Given the description of an element on the screen output the (x, y) to click on. 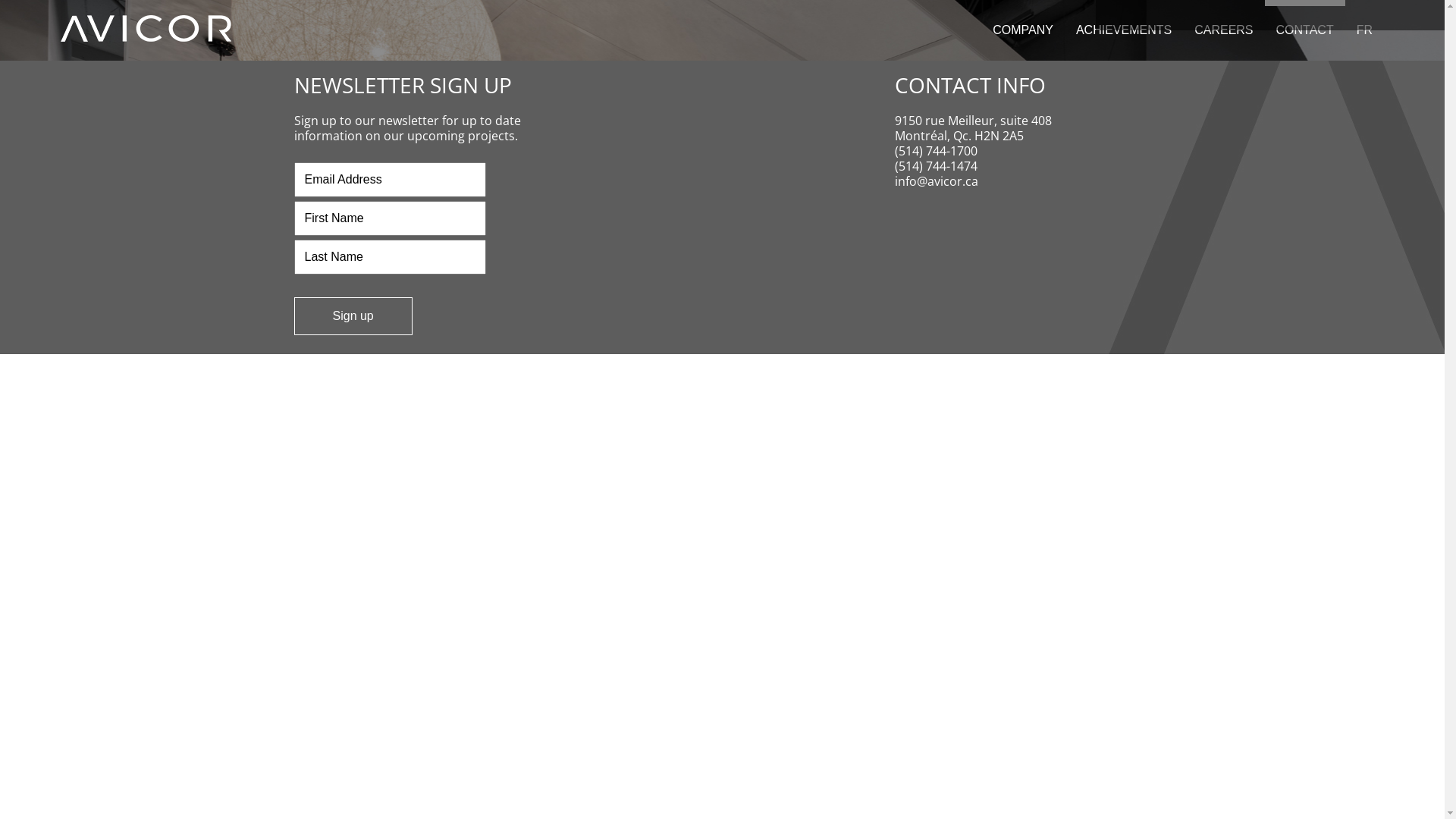
CONTACT Element type: text (1304, 30)
COMPANY Element type: text (1022, 30)
ACHIEVEMENTS Element type: text (1123, 30)
CAREERS Element type: text (1223, 30)
info@avicor.ca Element type: text (936, 180)
FR Element type: text (1364, 30)
Sign up Element type: text (353, 316)
